Given the description of an element on the screen output the (x, y) to click on. 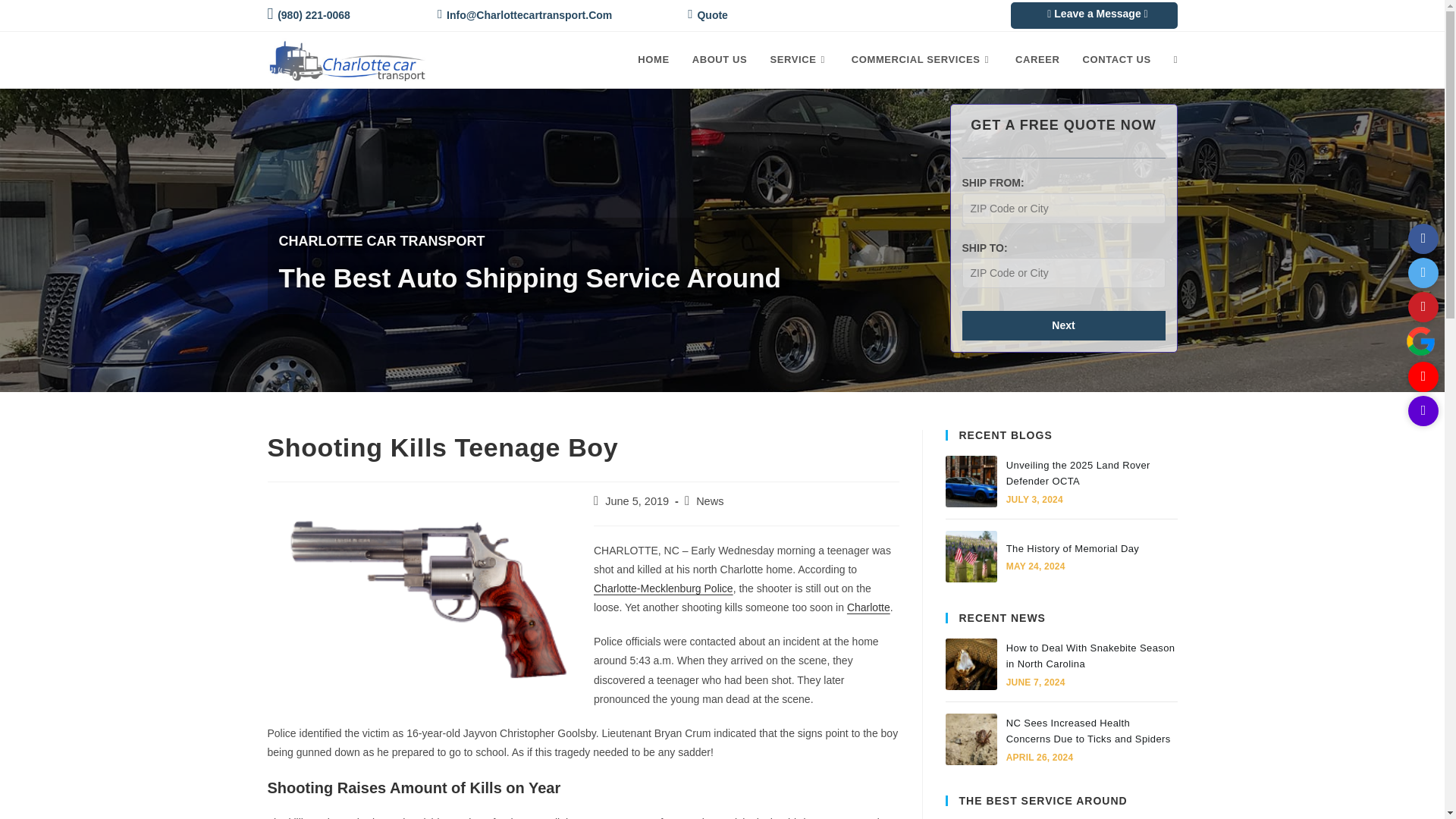
CAREER (1037, 59)
How to Deal With Snakebite Season in North Carolina (969, 664)
Quote (707, 15)
SERVICE (799, 59)
COMMERCIAL SERVICES (922, 59)
Charlotte (868, 607)
ABOUT US (719, 59)
The History of Memorial Day (969, 556)
NC Sees Increased Health Concerns Due to Ticks and Spiders (969, 738)
Next (1062, 325)
HOME (652, 59)
Enter a location (1062, 272)
News (709, 500)
Enter a location (1062, 208)
Charlotte-Mecklenburg Police (663, 588)
